Given the description of an element on the screen output the (x, y) to click on. 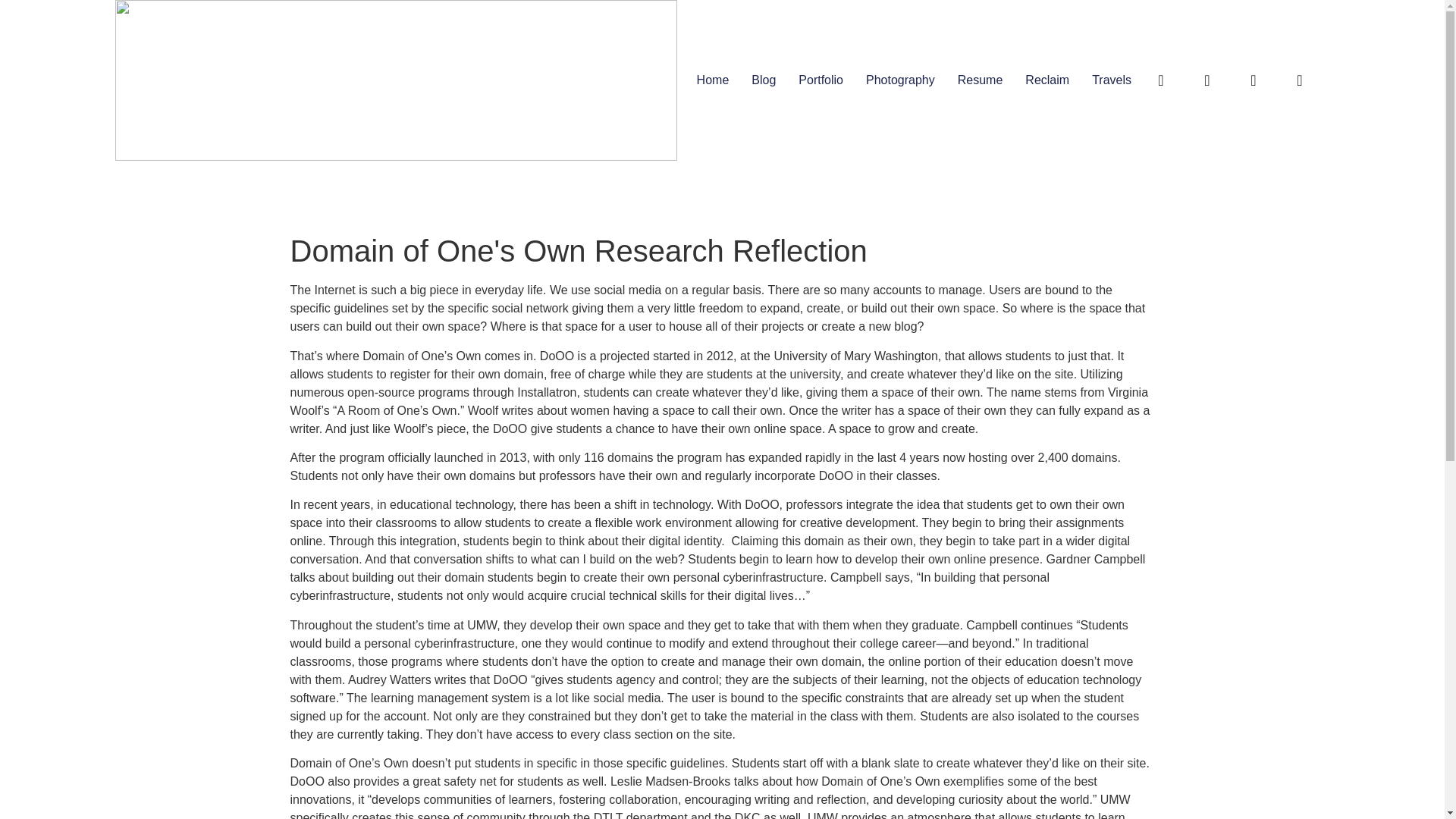
Photography (900, 80)
Resume (980, 80)
Travels (1111, 80)
Portfolio (820, 80)
Home (713, 80)
Blog (763, 80)
Reclaim (1046, 80)
